Given the description of an element on the screen output the (x, y) to click on. 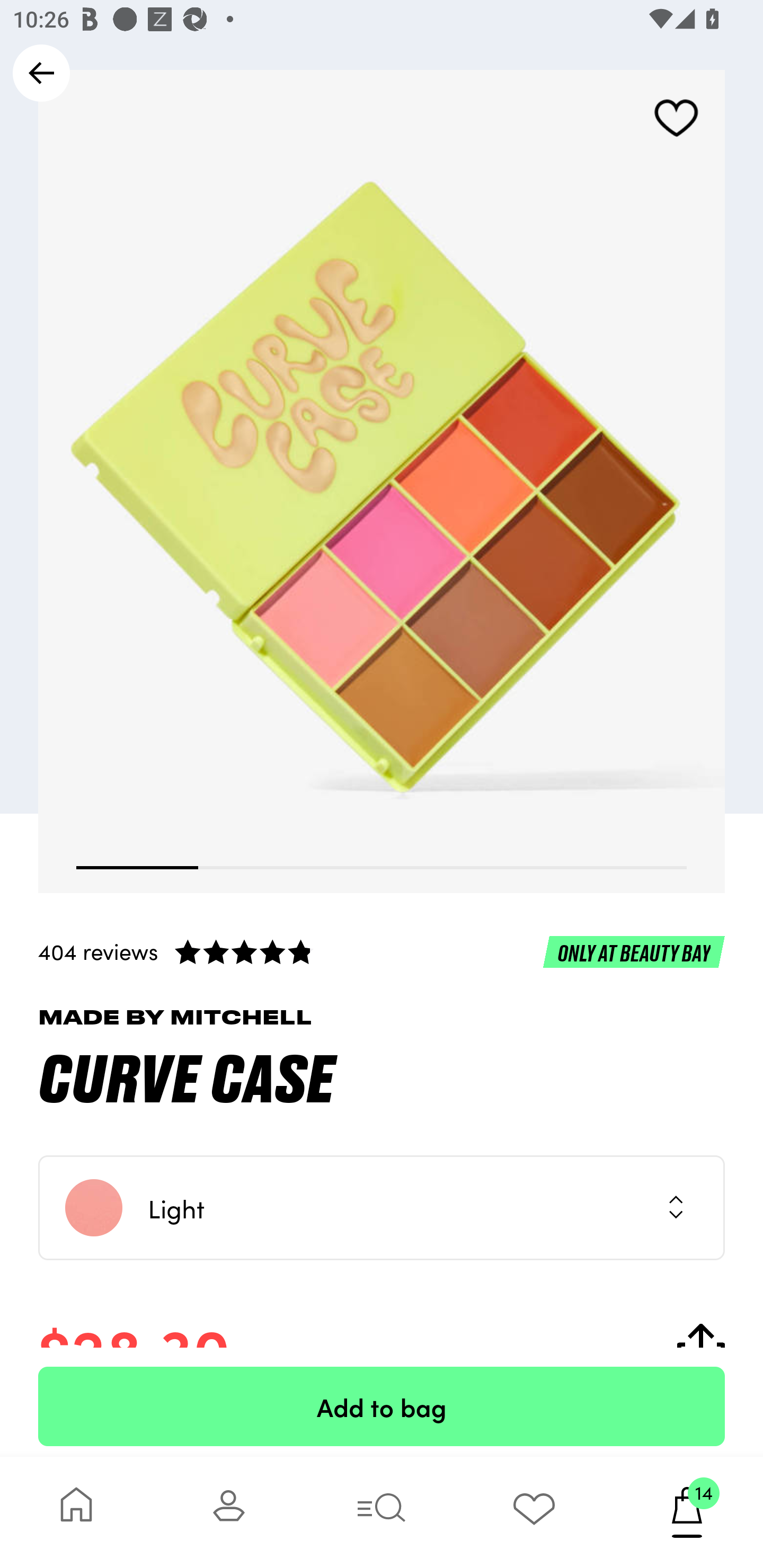
404 reviews (381, 950)
Light  (381, 1207)
Add to bag (381, 1406)
14 (686, 1512)
